Given the description of an element on the screen output the (x, y) to click on. 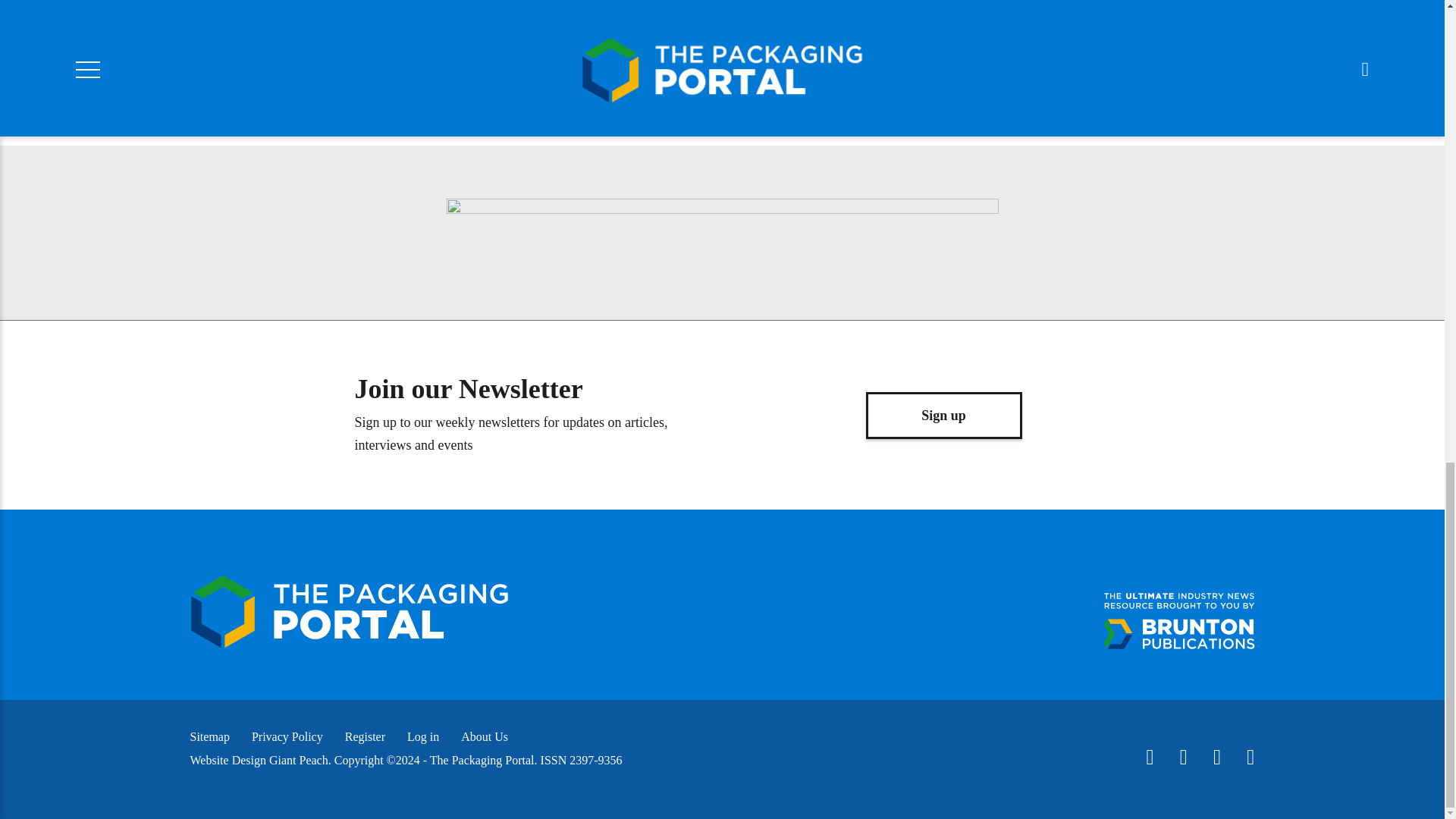
Log in (423, 736)
Send link to friend (725, 15)
Share on Twitter (483, 15)
Share on Whatsapp (564, 15)
Register (365, 736)
Sitemap (208, 736)
Privacy Policy (287, 736)
About Us (484, 736)
Share on LinkedIn (645, 15)
Share on Facebook (403, 15)
Sign up (944, 415)
